Given the description of an element on the screen output the (x, y) to click on. 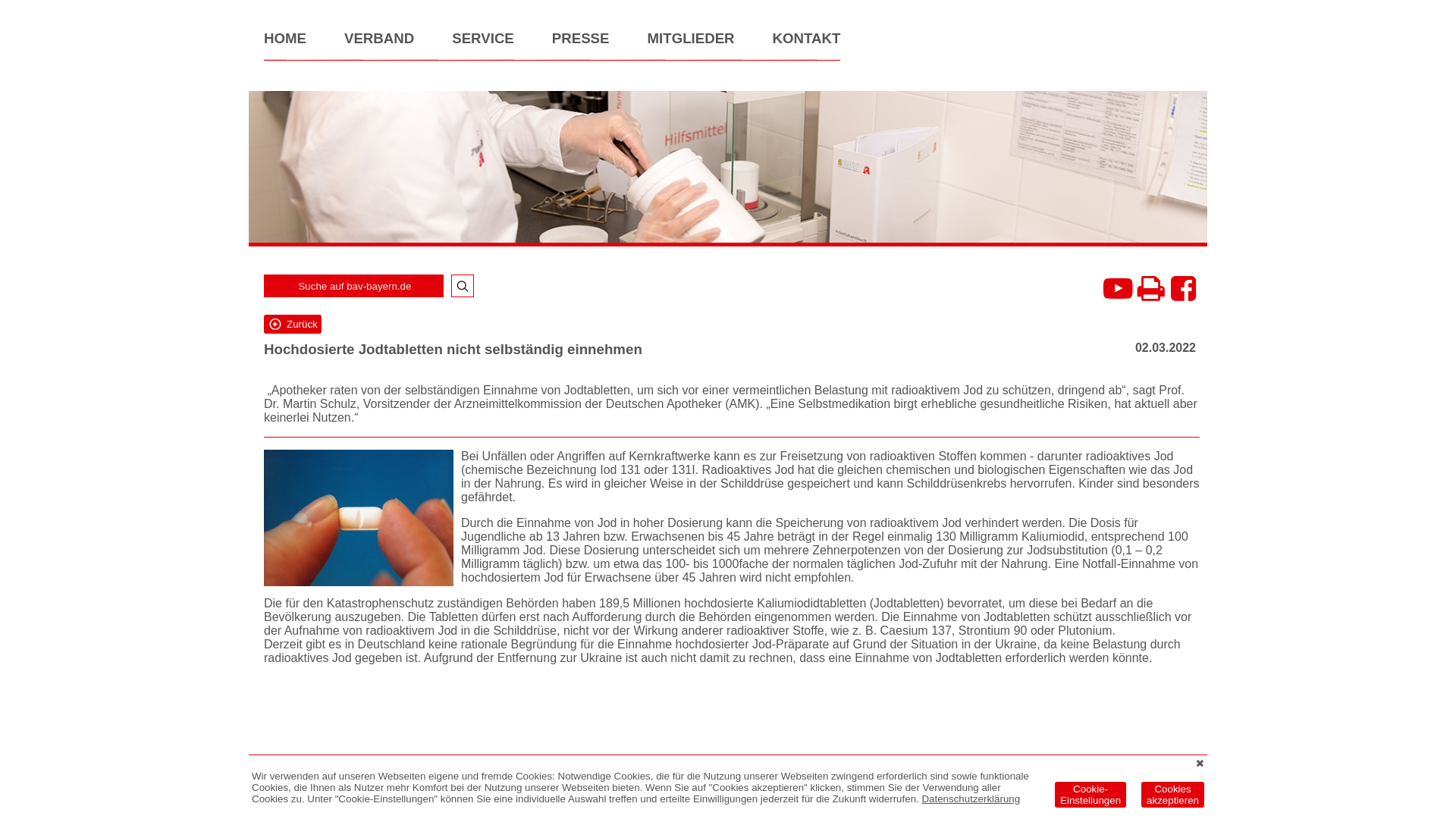
VERBAND Element type: text (379, 45)
Cookies akzeptieren Element type: text (1172, 794)
Cookie-Einstellungen Element type: text (1090, 794)
Der Youtube Kanal des BAV Element type: hover (1114, 285)
Facebook Element type: hover (1181, 285)
Drucken Element type: hover (1148, 285)
PRESSE Element type: text (580, 45)
Impressum Element type: text (312, 777)
KONTAKT Element type: text (806, 45)
HOME Element type: text (284, 45)
SERVICE Element type: text (482, 45)
MITGLIEDER Element type: text (690, 45)
Datenschutz Element type: text (312, 790)
